Given the description of an element on the screen output the (x, y) to click on. 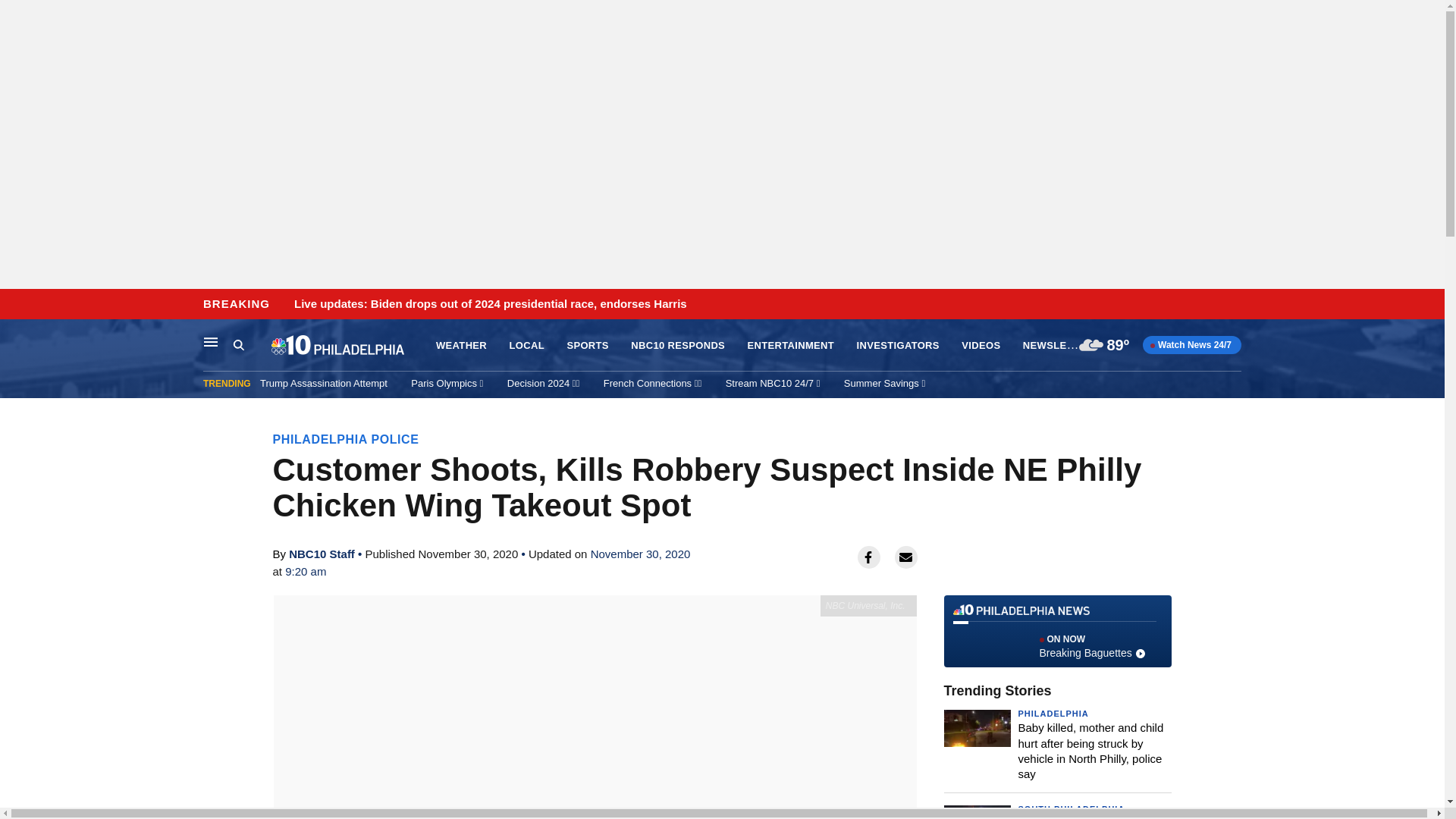
VIDEOS (980, 345)
INVESTIGATORS (898, 345)
Search (252, 345)
NEWSLETTERS (1061, 344)
WEATHER (460, 345)
Search (238, 344)
Skip to content (16, 304)
NBC10 Staff (321, 553)
SPORTS (587, 345)
Trump Assassination Attempt (323, 383)
NBC10 RESPONDS (677, 345)
ENTERTAINMENT (791, 345)
LOCAL (526, 345)
Main Navigation (210, 341)
